Given the description of an element on the screen output the (x, y) to click on. 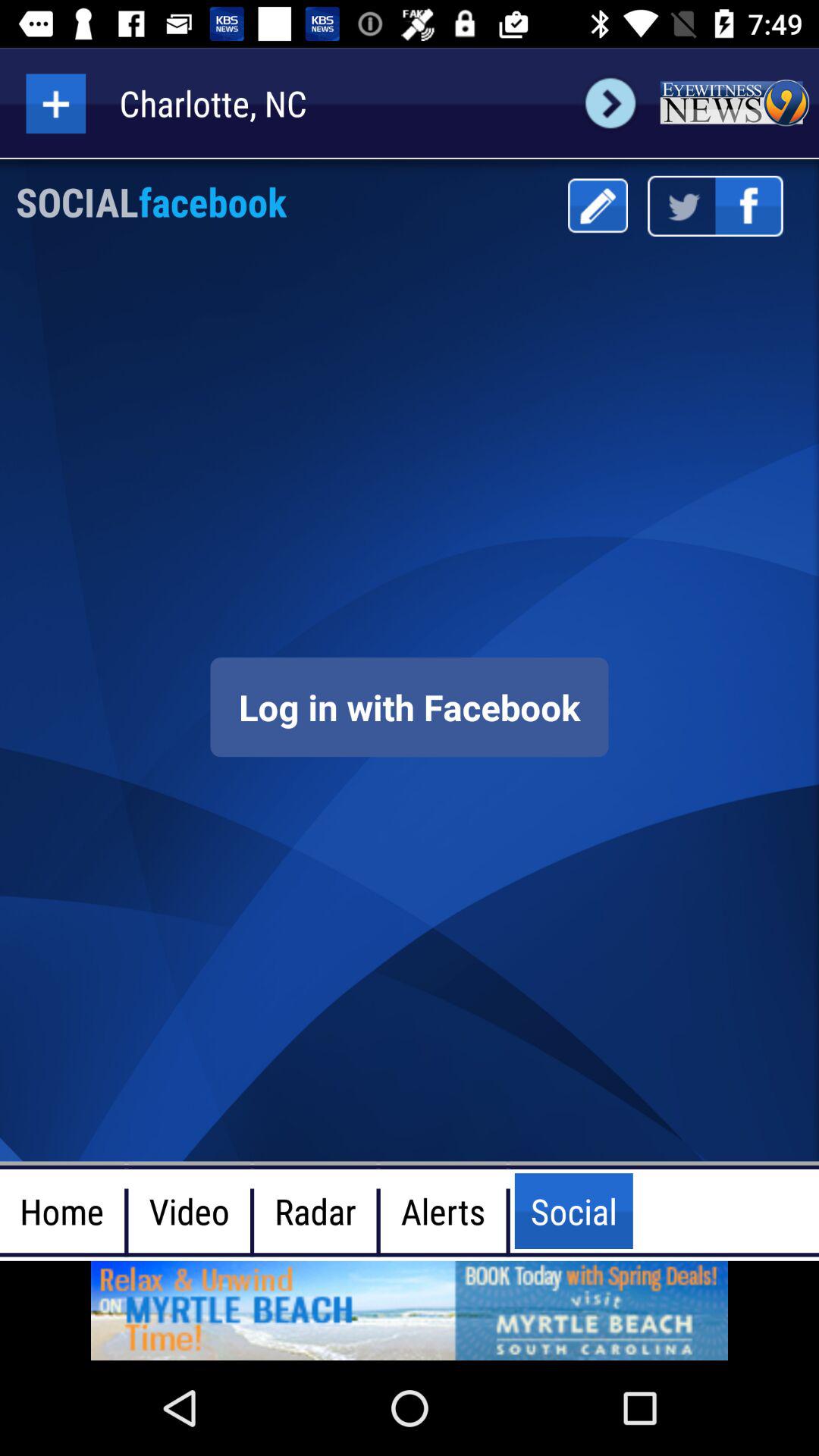
select email share (597, 206)
